Given the description of an element on the screen output the (x, y) to click on. 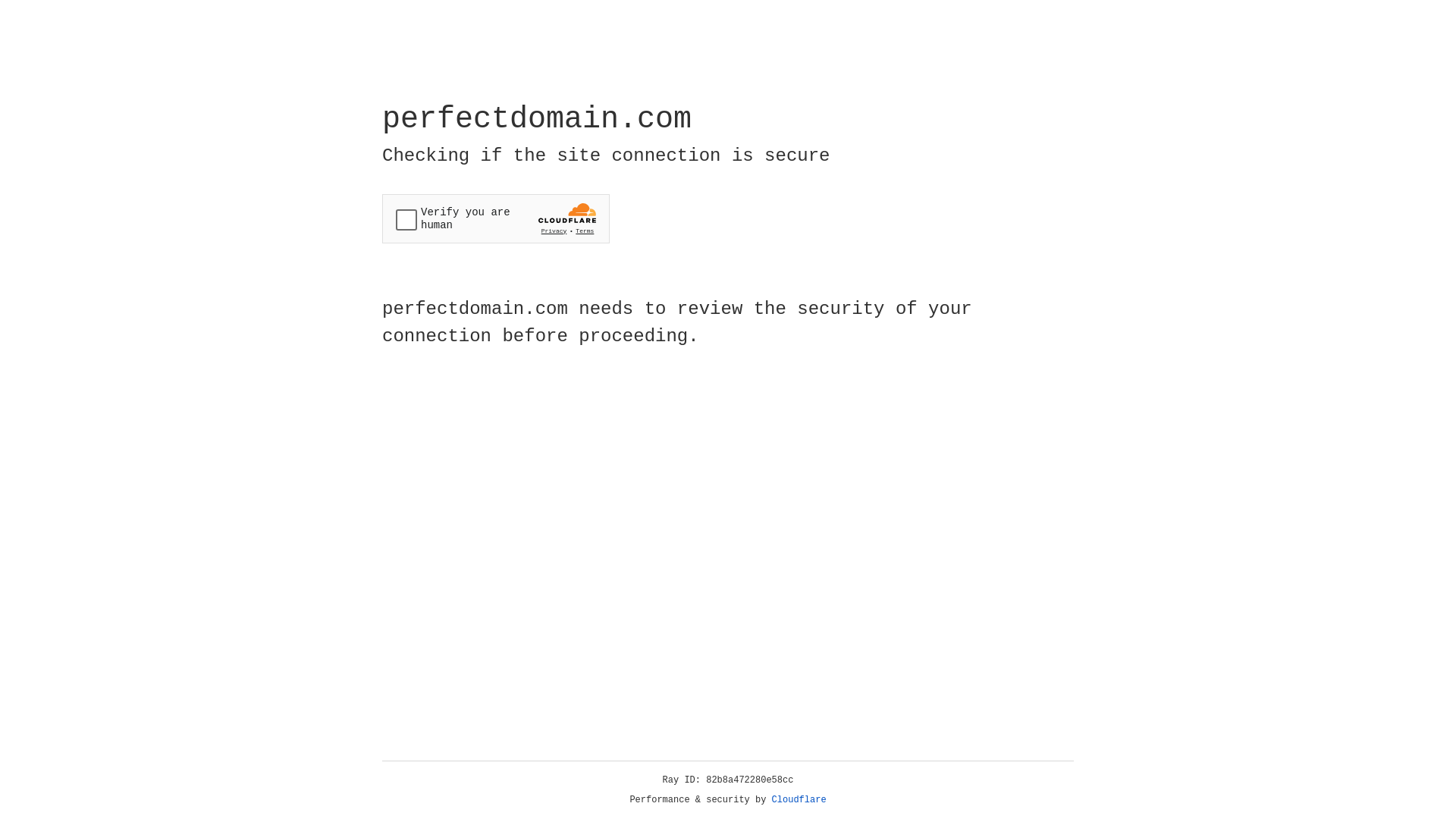
Cloudflare Element type: text (798, 799)
Widget containing a Cloudflare security challenge Element type: hover (495, 218)
